Given the description of an element on the screen output the (x, y) to click on. 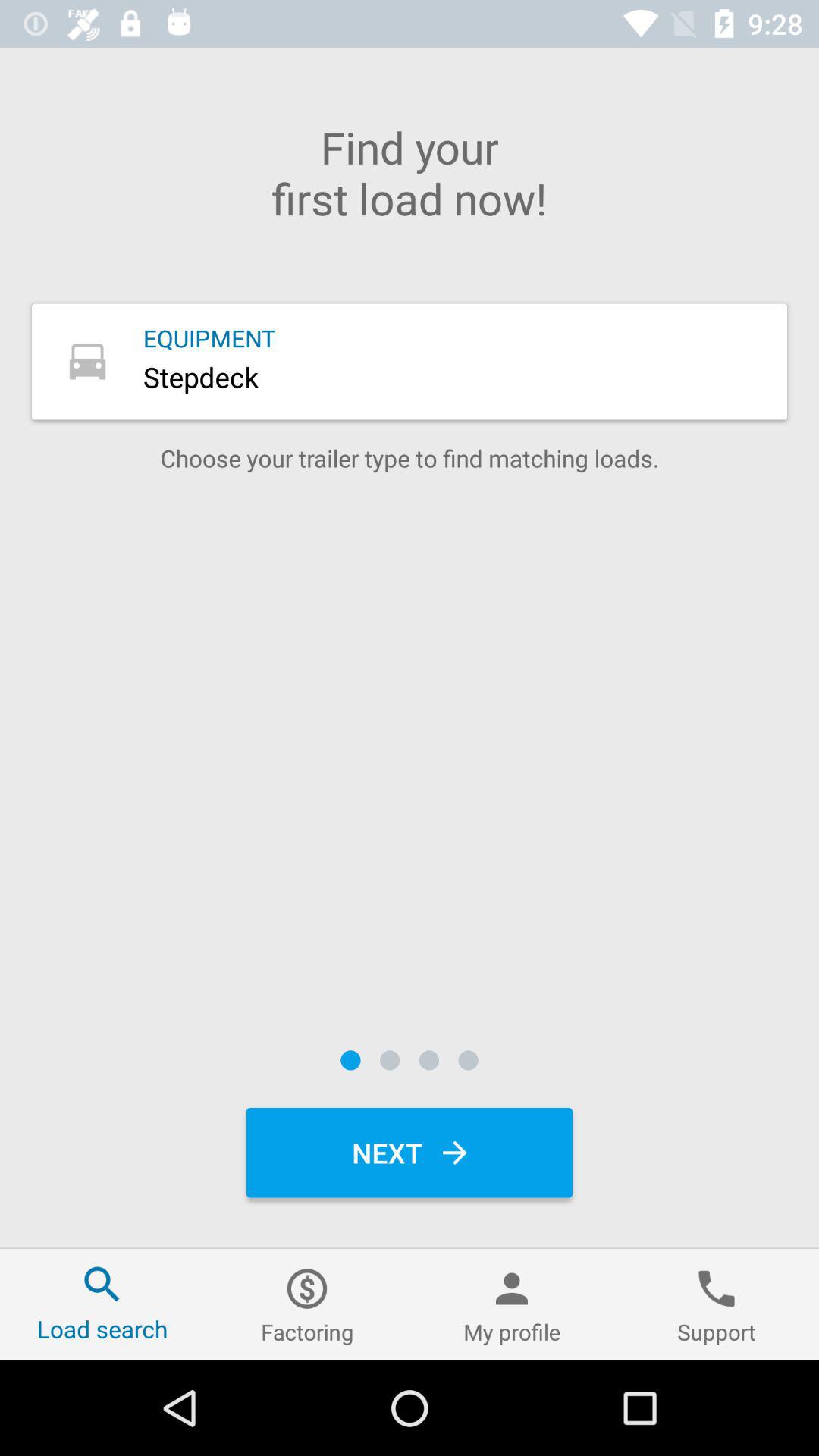
open the item next to the my profile (306, 1304)
